Given the description of an element on the screen output the (x, y) to click on. 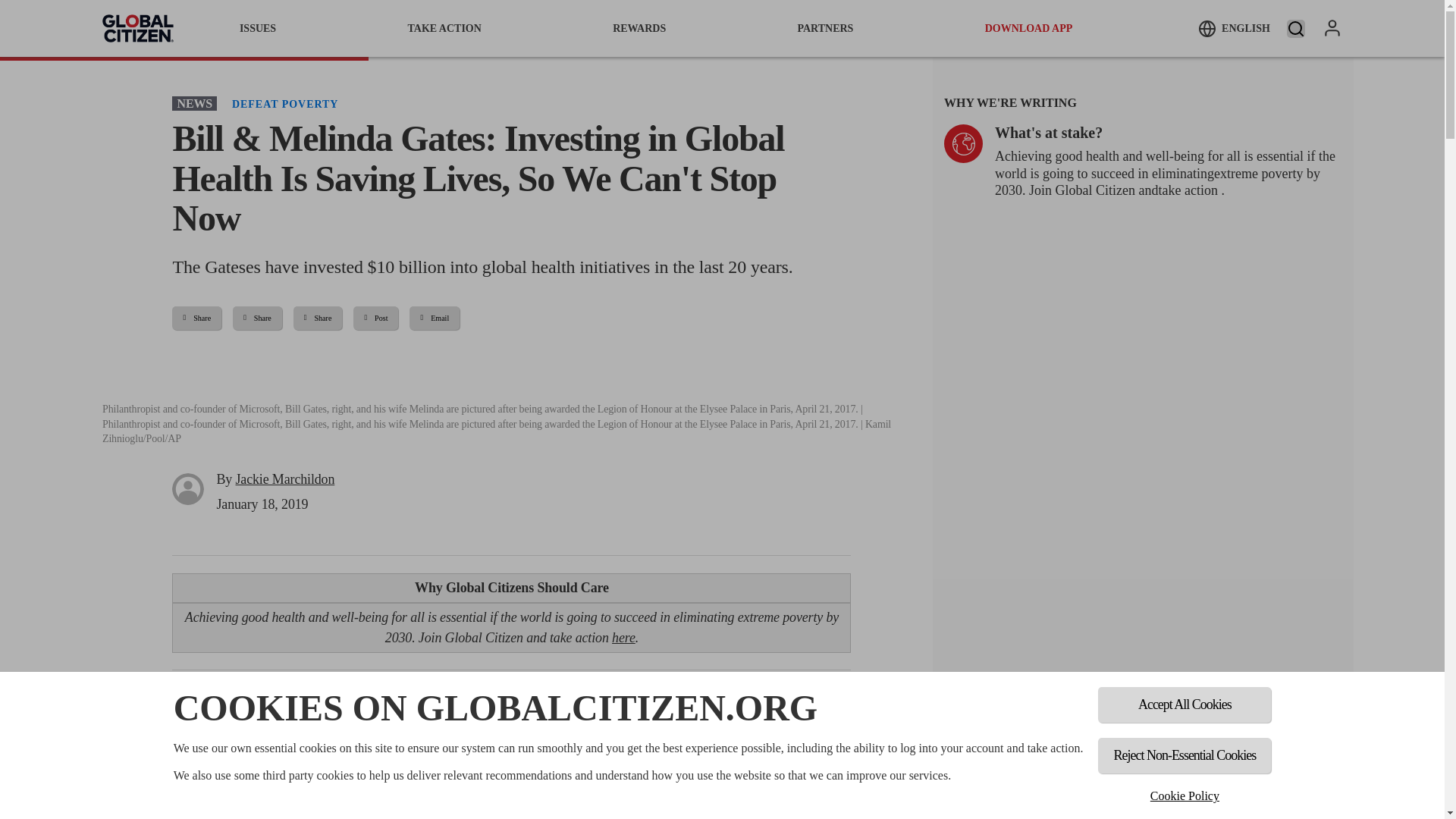
PARTNERS (825, 28)
ENGLISH (1233, 28)
DEFEAT POVERTY (284, 103)
TAKE ACTION (444, 28)
Share (196, 318)
ISSUES (257, 28)
REWARDS (639, 28)
Defeat Poverty (284, 103)
DOWNLOAD APP (1029, 28)
